Given the description of an element on the screen output the (x, y) to click on. 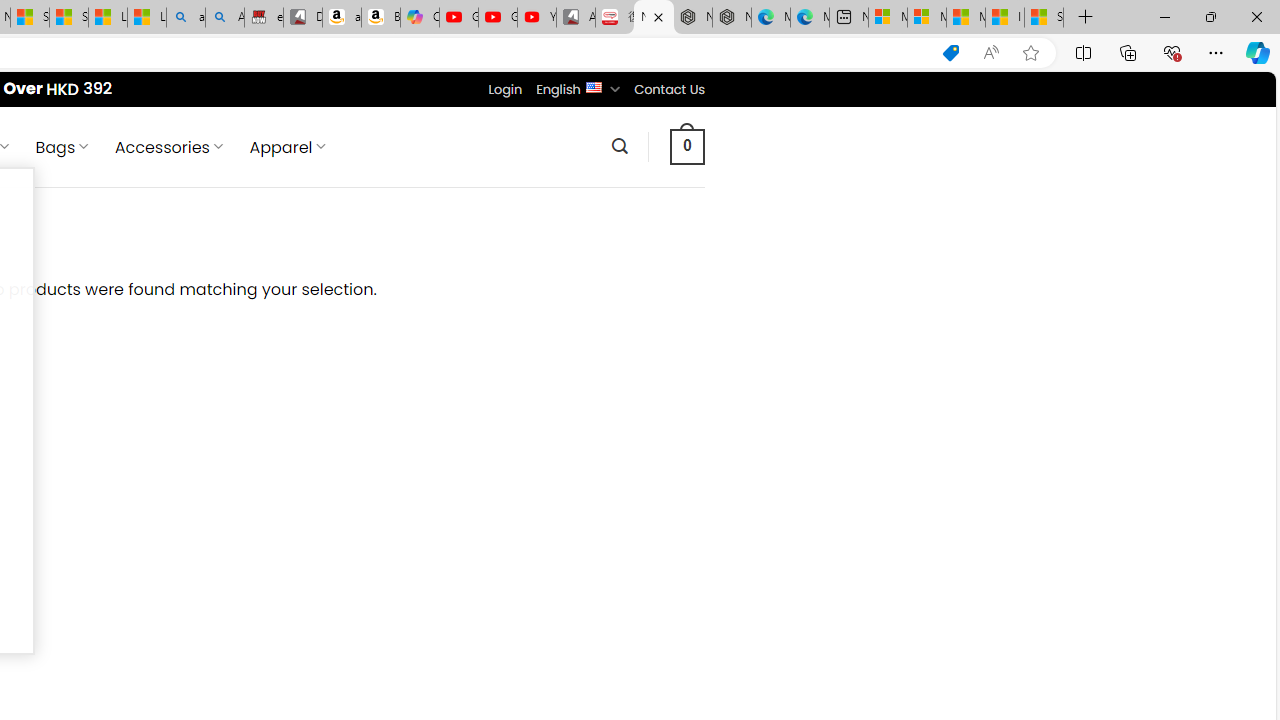
Minimize (1164, 16)
Nordace - Nordace has arrived Hong Kong (732, 17)
amazon.in/dp/B0CX59H5W7/?tag=gsmcom05-21 (341, 17)
Close tab (658, 16)
Close (1256, 16)
Nordace - Luggage (653, 17)
  0   (687, 146)
Copilot (Ctrl+Shift+.) (1258, 52)
Contact Us (669, 89)
 0  (687, 146)
